Given the description of an element on the screen output the (x, y) to click on. 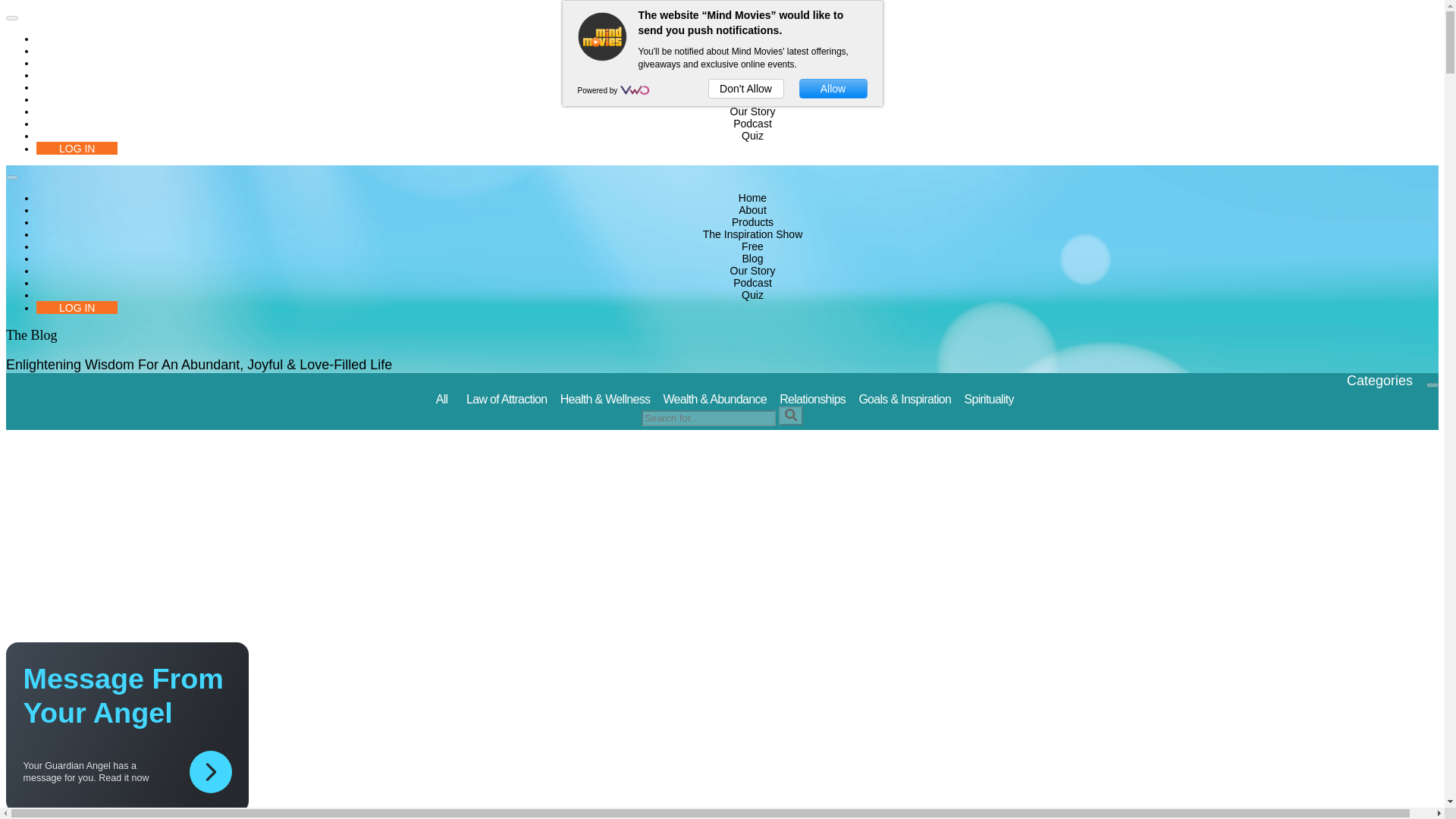
About (752, 209)
Relationships (812, 398)
Blog (751, 99)
LOG IN (76, 147)
Podcast (752, 282)
Home (752, 197)
Quiz (751, 135)
Products (752, 222)
Free (751, 246)
Law of Attraction (506, 398)
Our Story (753, 270)
Spirituality (988, 398)
Quiz (751, 295)
Podcast (752, 123)
